Given the description of an element on the screen output the (x, y) to click on. 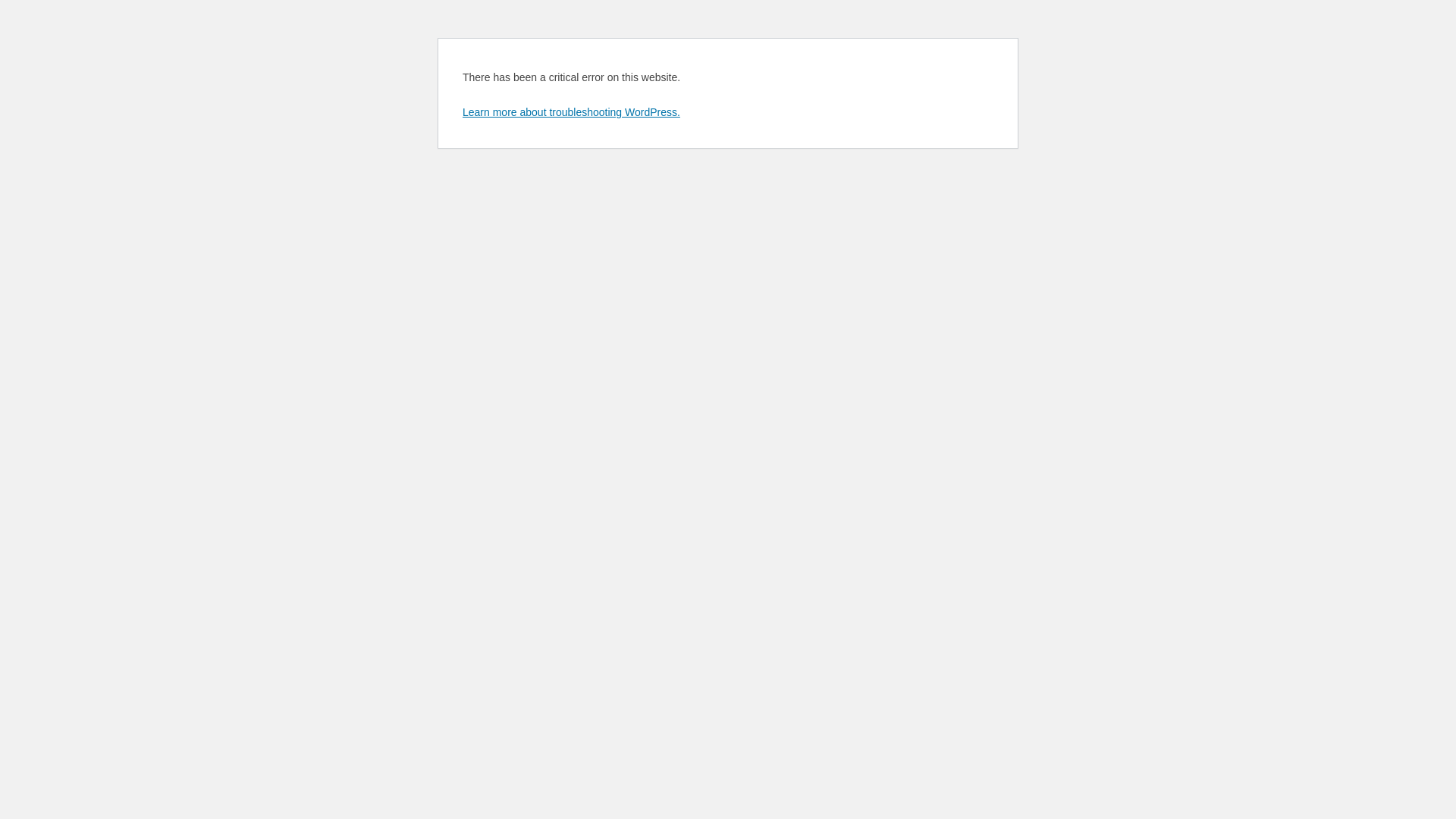
Learn more about troubleshooting WordPress. Element type: text (571, 112)
